Given the description of an element on the screen output the (x, y) to click on. 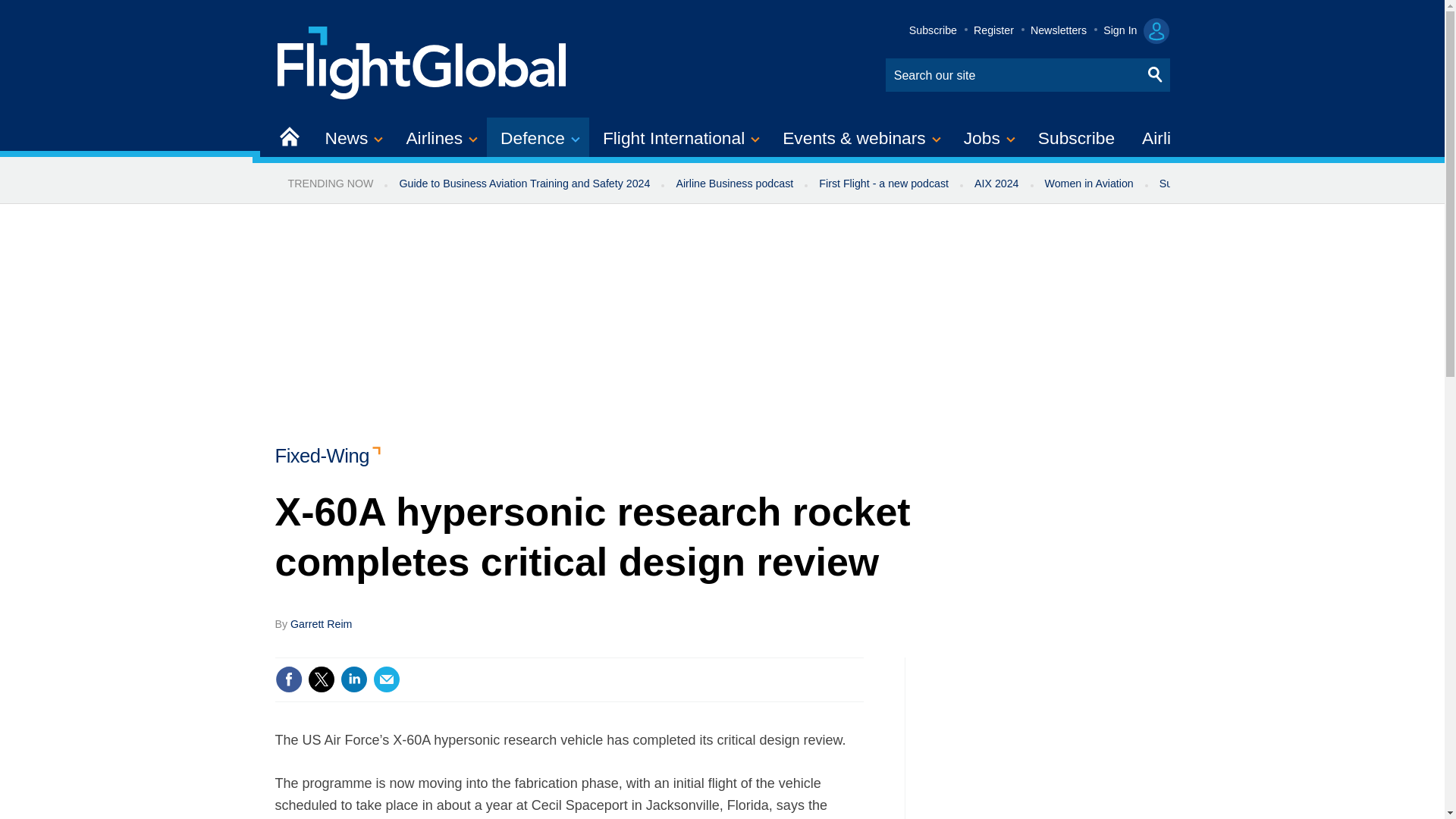
Guide to Business Aviation Training and Safety 2024 (523, 183)
Women in Aviation (1089, 183)
Sustainable Aviation newsletter (1234, 183)
Site name (422, 60)
Airline Business podcast (734, 183)
Email this article (386, 678)
Share this on Linked in (352, 678)
Share this on Twitter (320, 678)
First Flight - a new podcast (883, 183)
AIX 2024 (996, 183)
Share this on Facebook (288, 678)
